Given the description of an element on the screen output the (x, y) to click on. 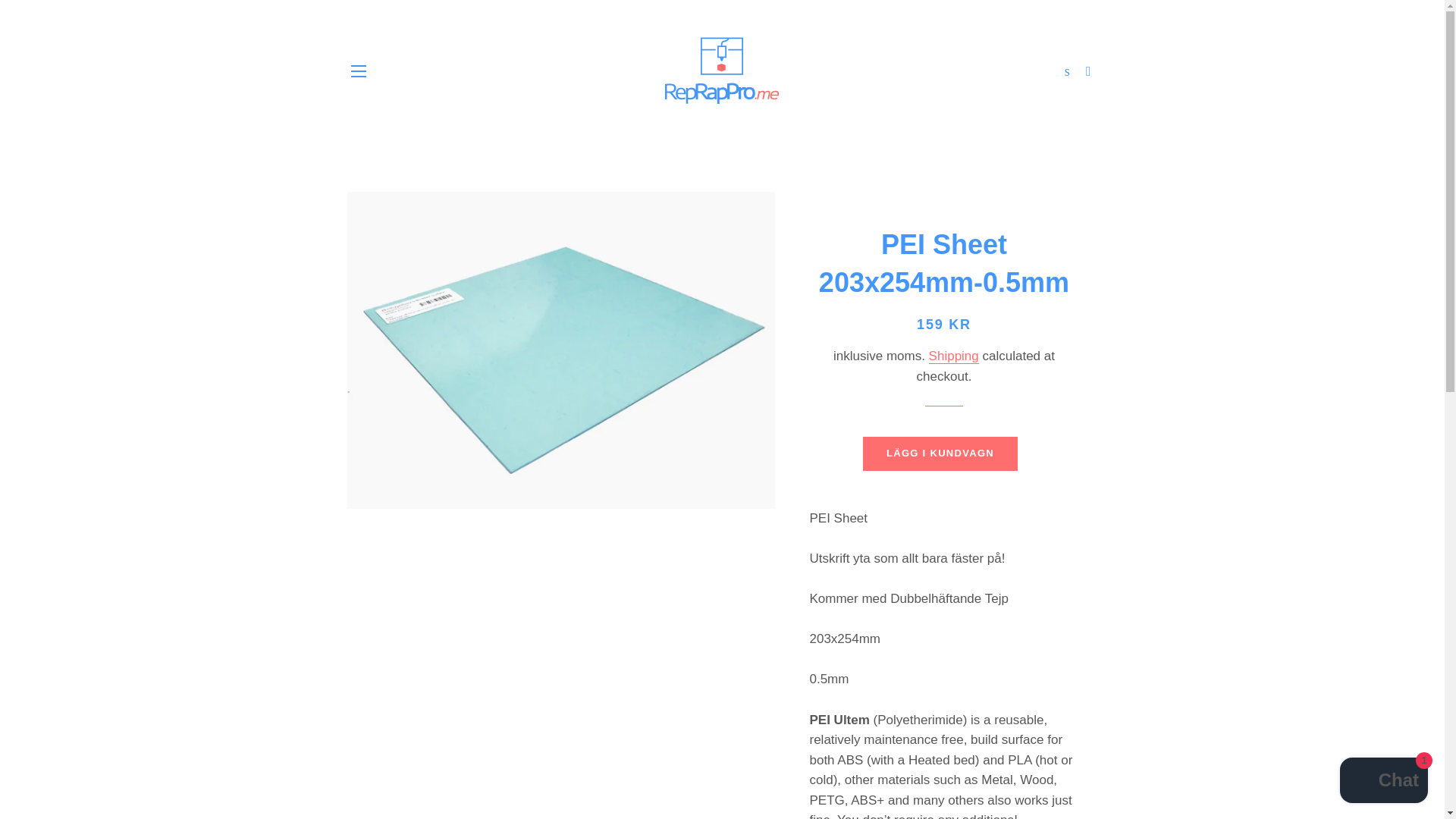
Shopify online store chat (1383, 781)
